Given the description of an element on the screen output the (x, y) to click on. 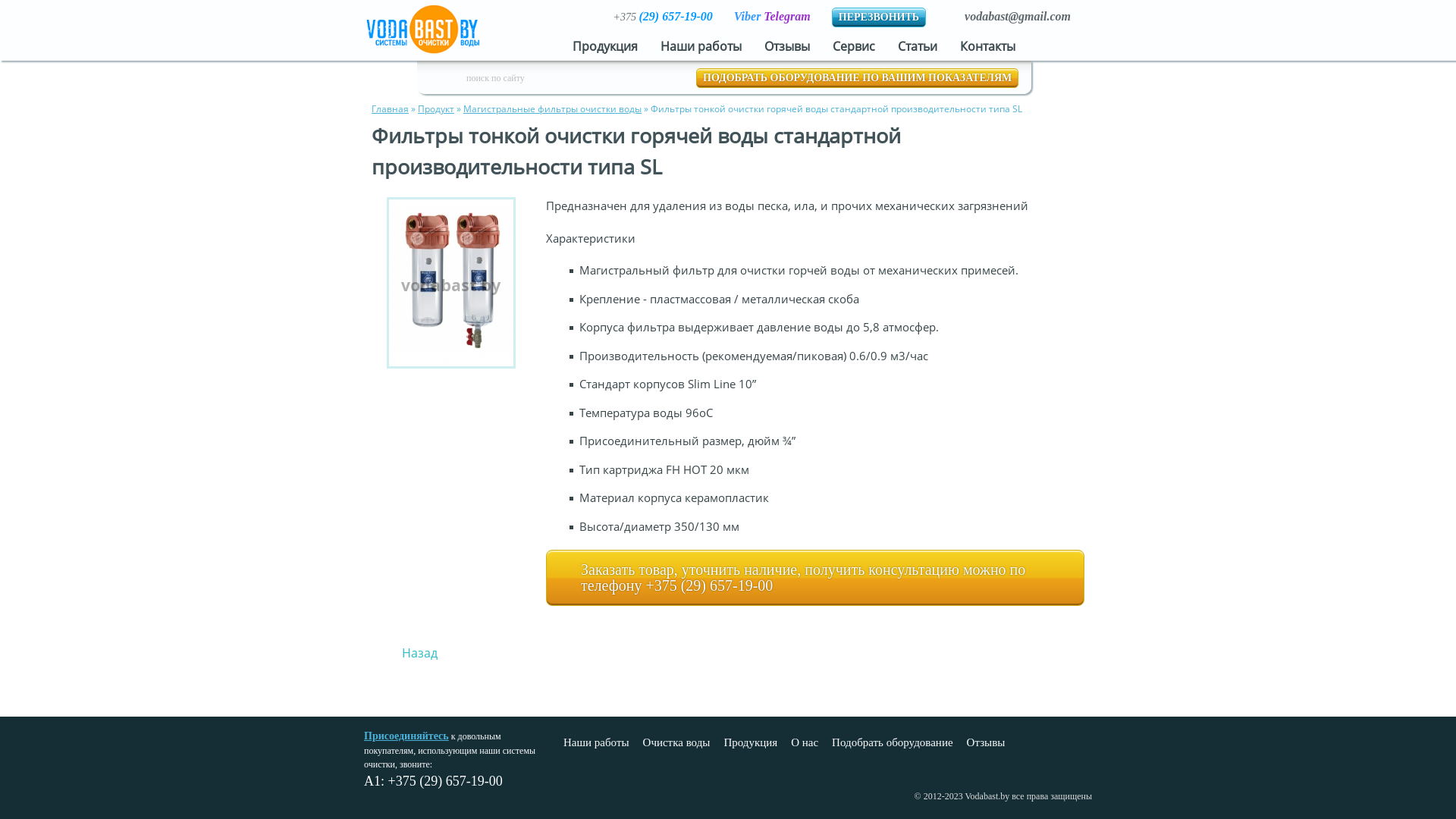
vodabast@gmail.com Element type: text (1017, 15)
